Given the description of an element on the screen output the (x, y) to click on. 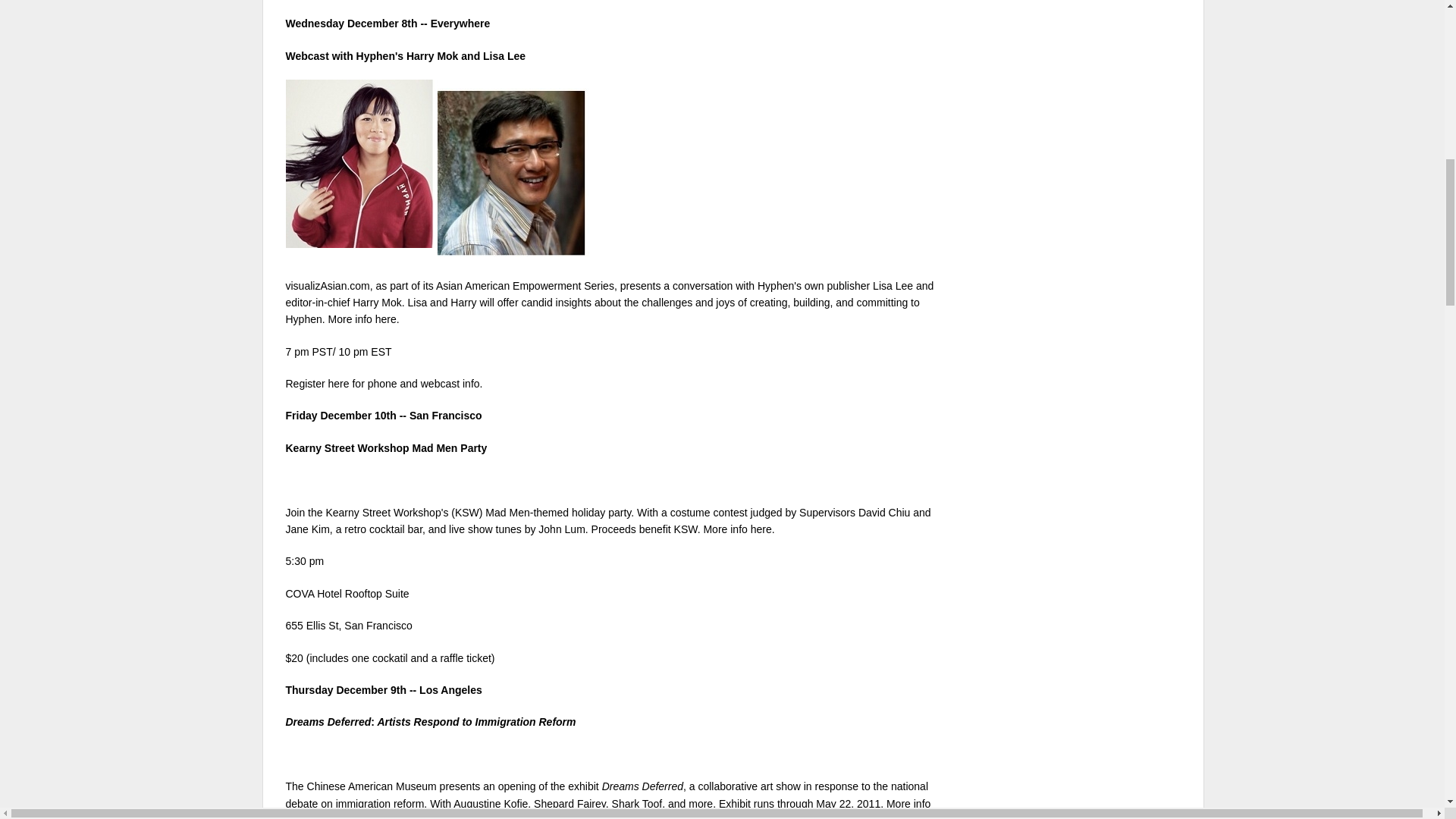
here (385, 318)
here (295, 816)
visualizAsian.com (327, 285)
here (339, 383)
Chinese American Museum (371, 786)
here (761, 529)
Kearny Street Workshop (382, 512)
